Given the description of an element on the screen output the (x, y) to click on. 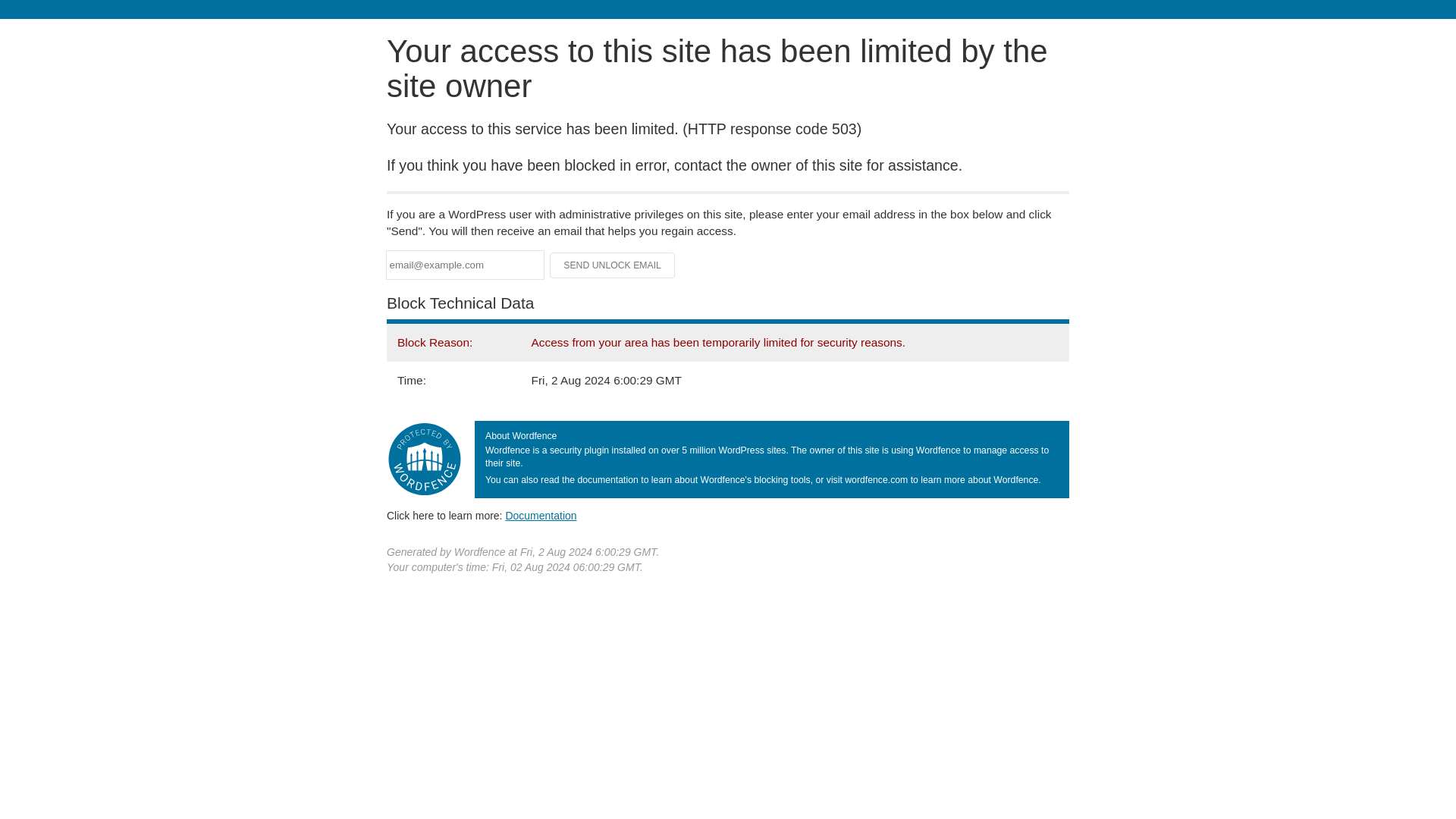
Documentation (540, 515)
Send Unlock Email (612, 265)
Send Unlock Email (612, 265)
